Given the description of an element on the screen output the (x, y) to click on. 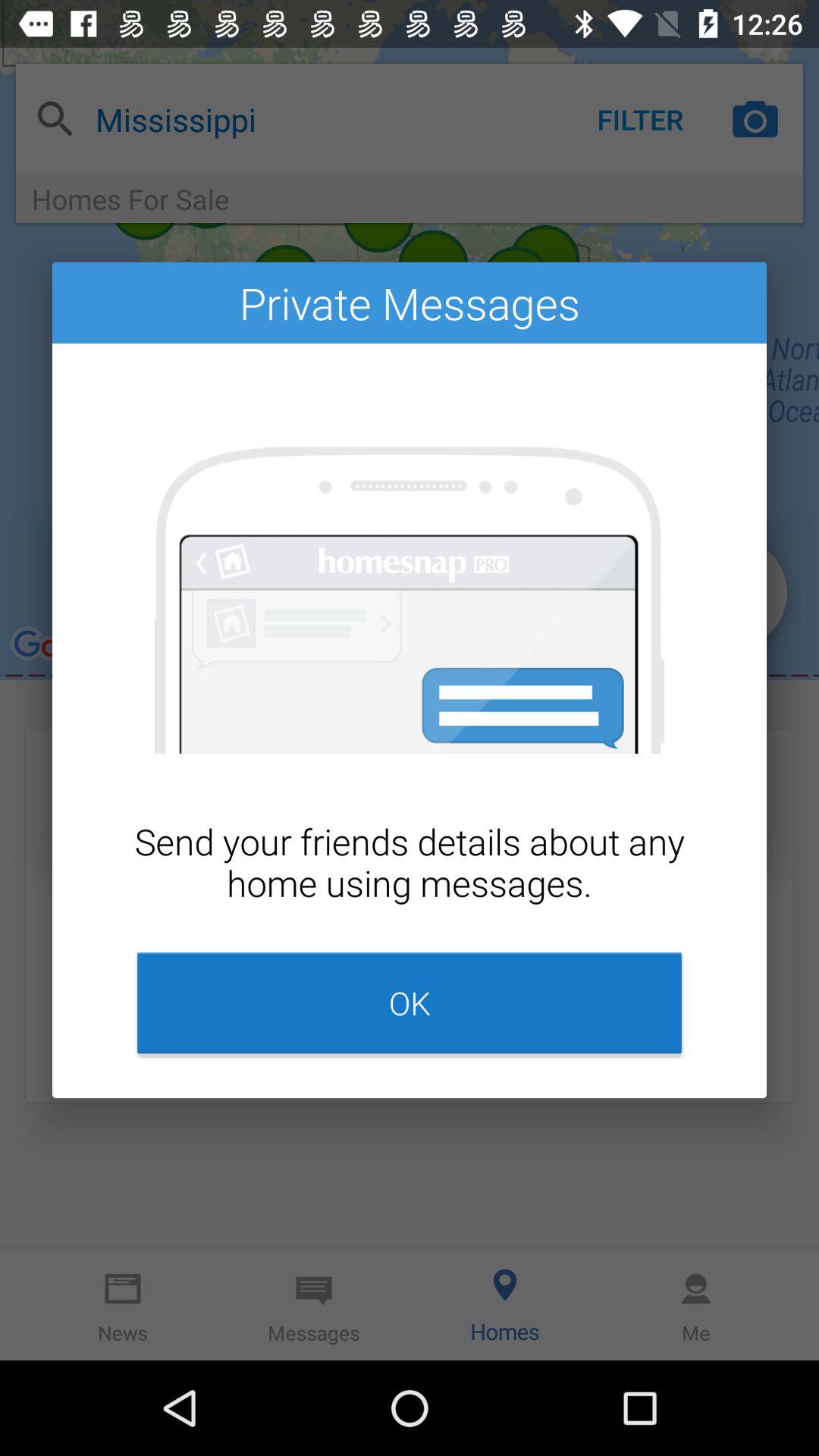
choose item at the bottom (409, 1002)
